Given the description of an element on the screen output the (x, y) to click on. 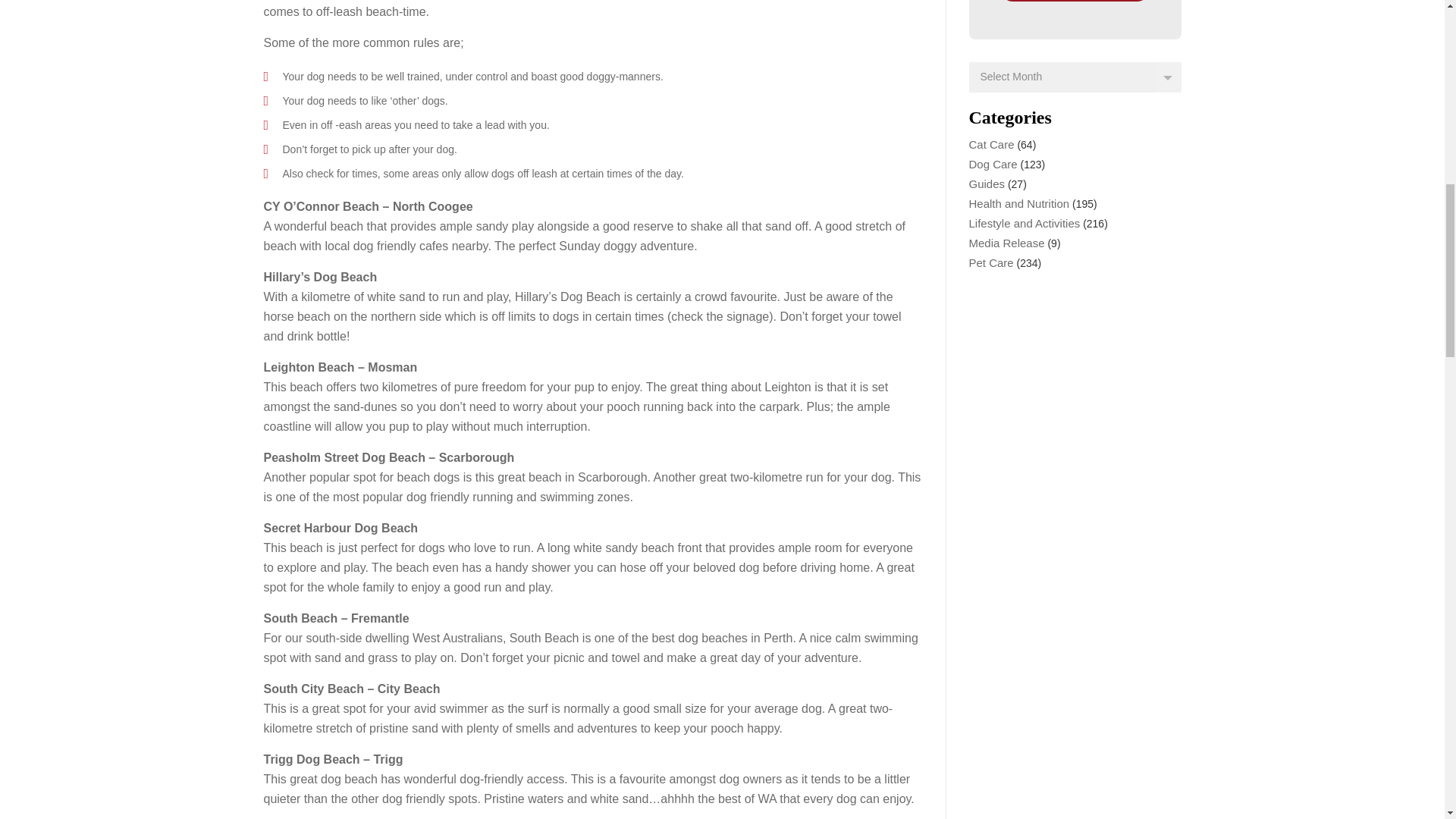
Lifestyle and Activities (1024, 223)
Dog Care (993, 164)
Health and Nutrition (1019, 203)
Cat Care (991, 144)
Guides (987, 183)
Pet Care (991, 262)
Media Release (1007, 242)
